Given the description of an element on the screen output the (x, y) to click on. 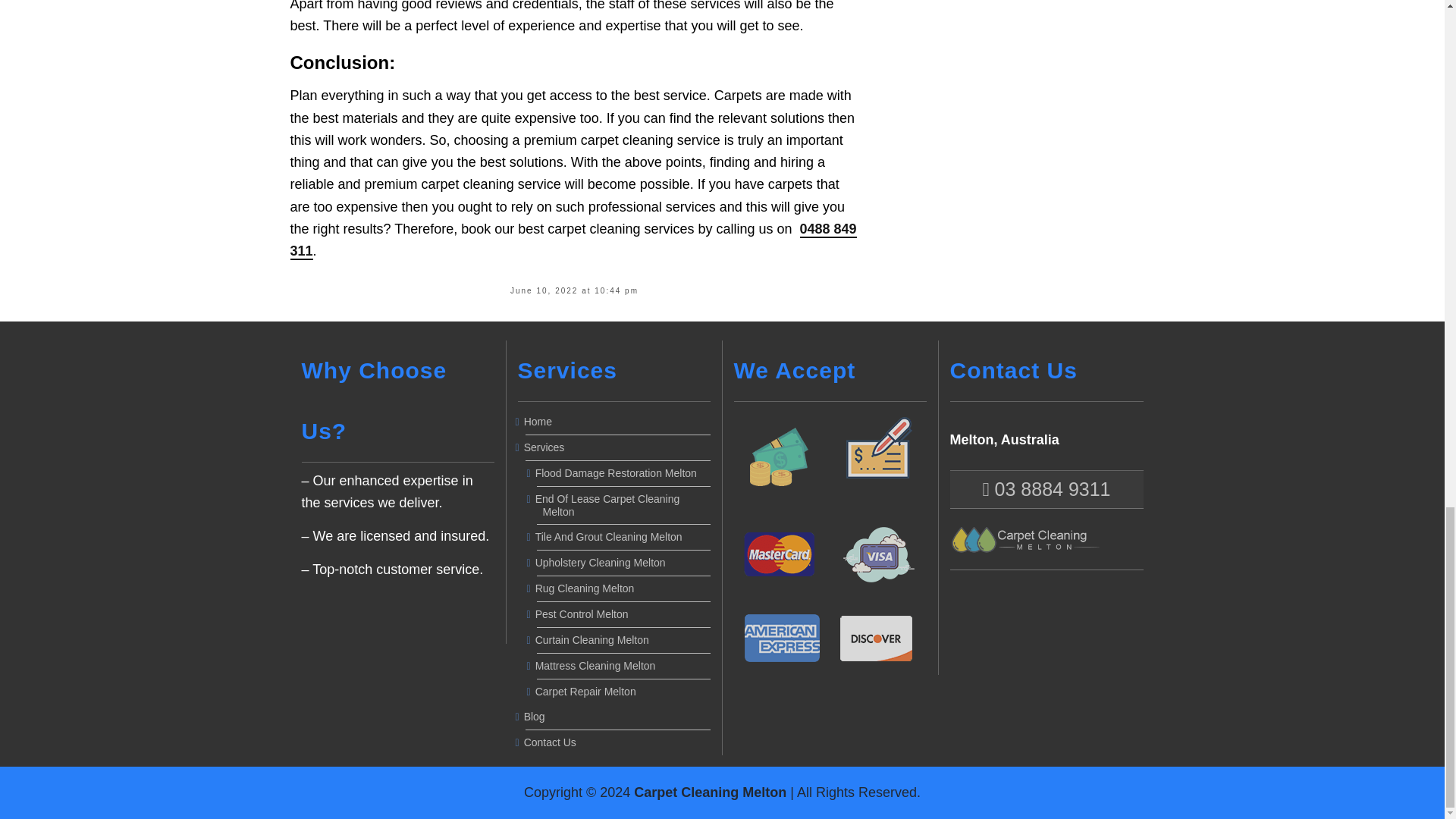
Services (617, 447)
Home (617, 421)
Flood Damage Restoration Melton (623, 473)
End Of Lease Carpet Cleaning Melton (623, 505)
0488 849 311 (572, 240)
